Given the description of an element on the screen output the (x, y) to click on. 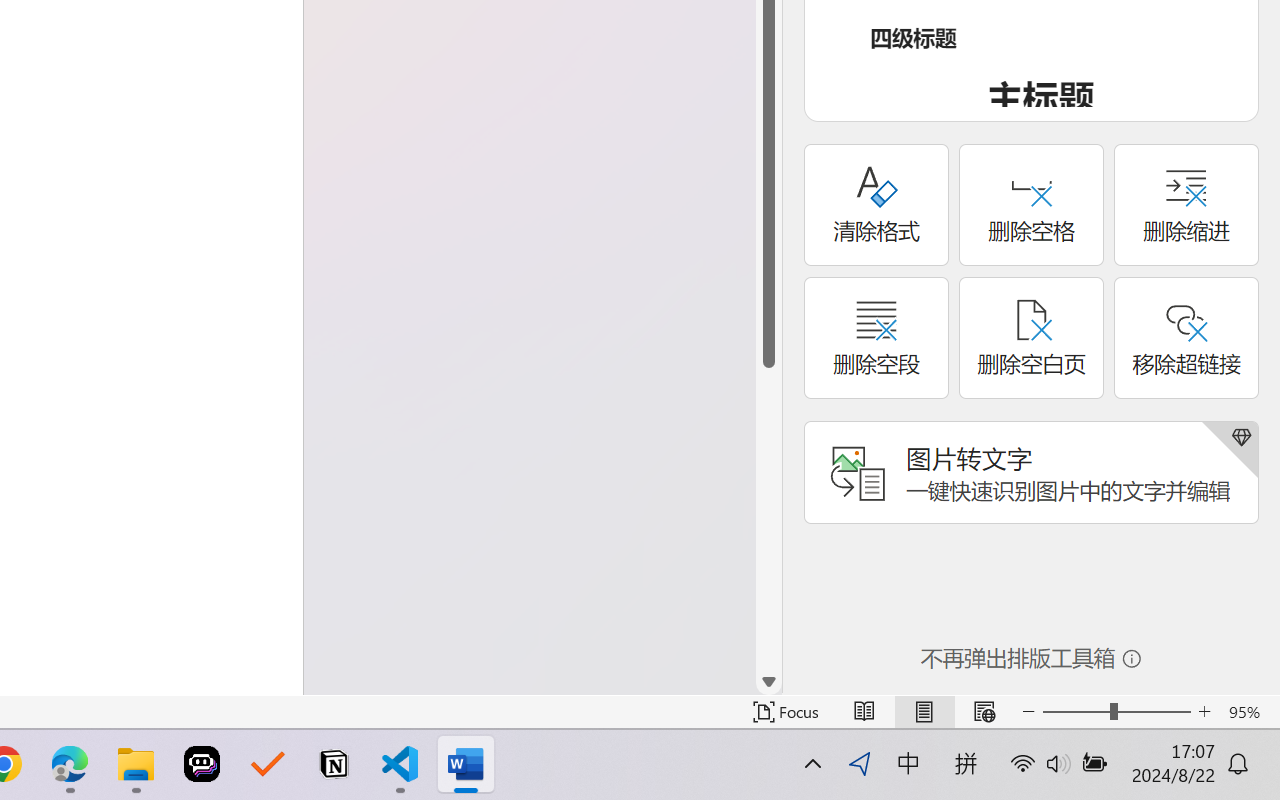
Line down (769, 681)
Page down (769, 518)
Zoom 95% (1249, 712)
